Given the description of an element on the screen output the (x, y) to click on. 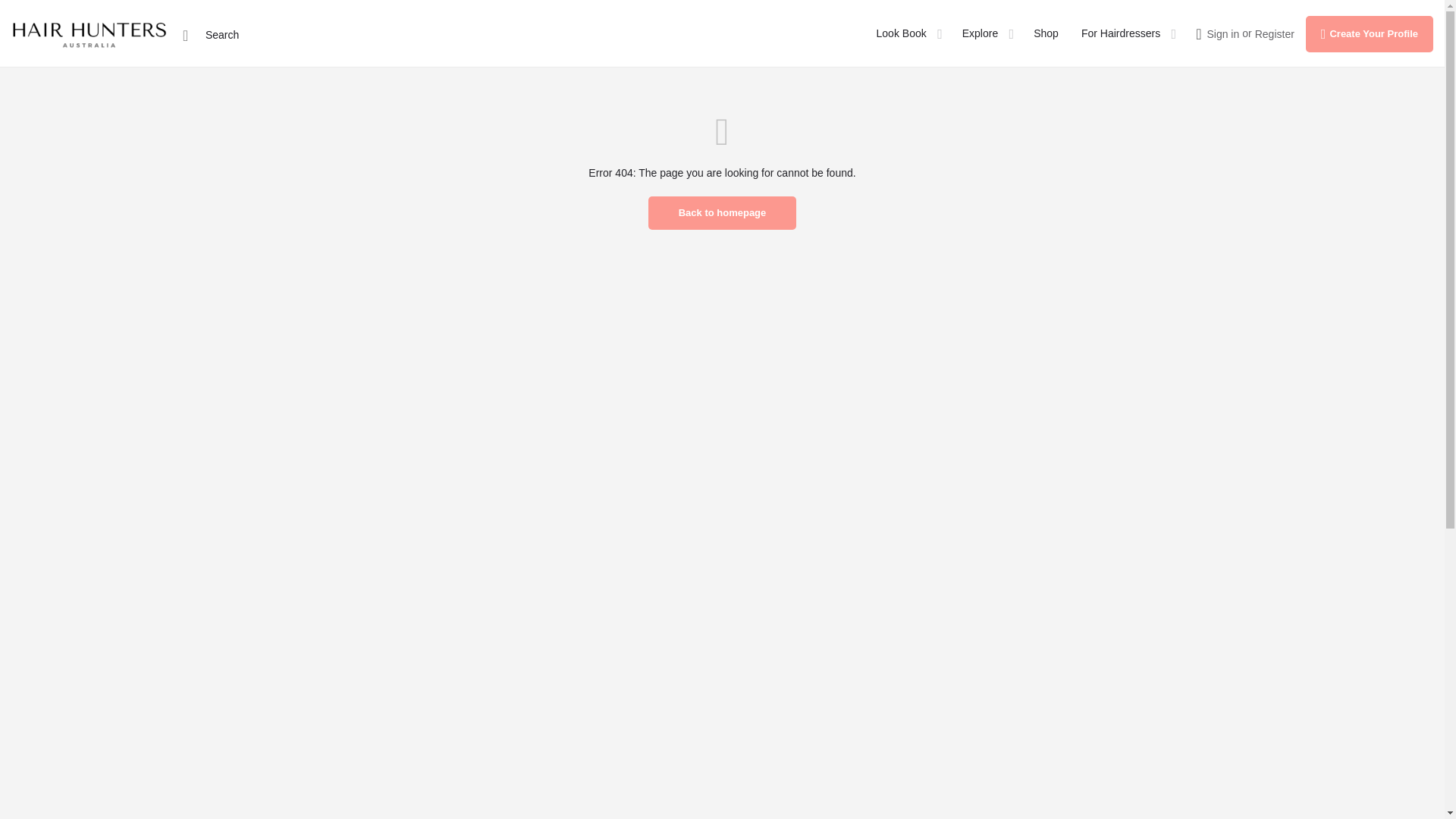
Look Book (901, 32)
Sign in (1223, 33)
Shop (1045, 32)
Explore (979, 32)
For Hairdressers (1120, 32)
Back to homepage (721, 213)
Register (1274, 33)
Create Your Profile (1369, 33)
